Given the description of an element on the screen output the (x, y) to click on. 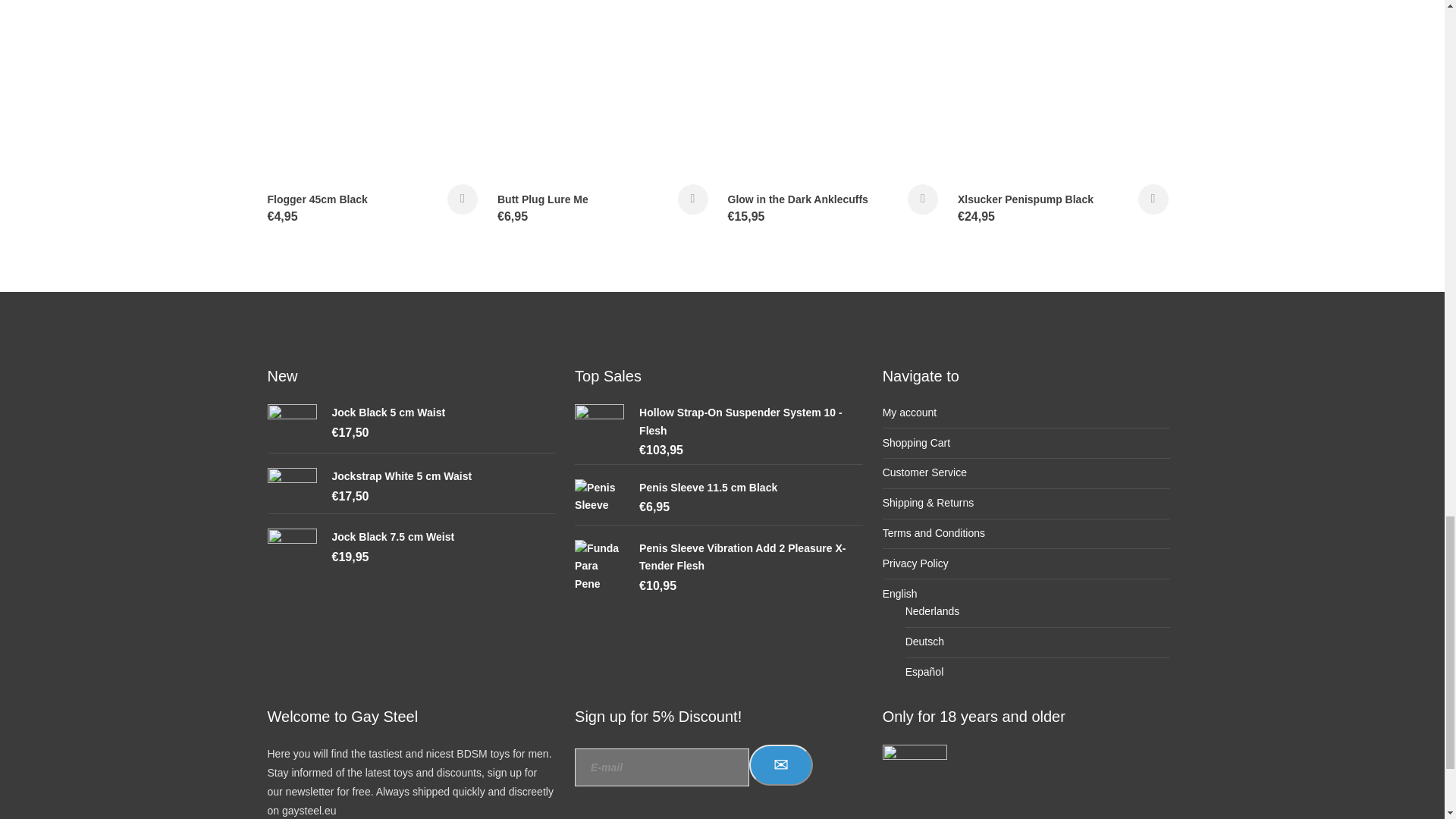
Alleen voor 18 jaar en ouder (914, 776)
